Given the description of an element on the screen output the (x, y) to click on. 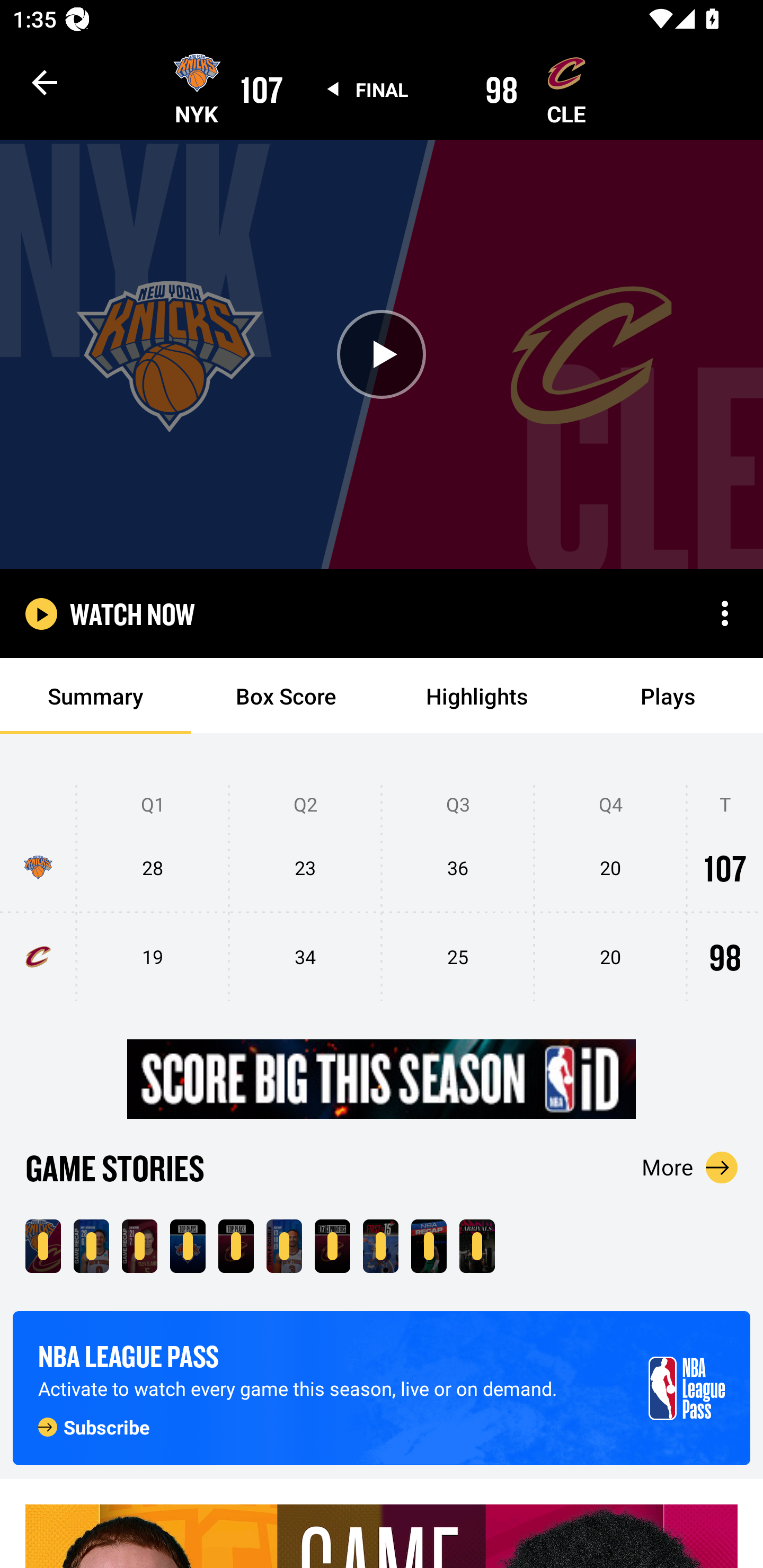
Navigate up (44, 82)
More options (724, 613)
WATCH NOW (132, 613)
Box Score (285, 695)
Highlights (476, 695)
Plays (667, 695)
Q1 Q2 Q3 Q4 T 28 23 36 20 107 19 34 25 20 98 (381, 893)
More (689, 1166)
NEW NYK 107, CLE 98 - Mar 3 (43, 1246)
NEW Highlights From Sam Merrill's 21-Point Game (139, 1246)
NEW NYK's Top Plays from NYK vs. CLE (187, 1246)
NEW CLE's Top Plays from NYK vs. CLE (236, 1246)
Highlights from Josh Hart's Triple-Double NEW (284, 1246)
All 3-pointers from CLE's 17 3-pointer Night NEW (332, 1246)
First To 15, Mar. 3rd NEW (380, 1246)
Sunday's Recap NEW (428, 1246)
Steppin' Into Sunday 🔥 NEW (477, 1246)
